Given the description of an element on the screen output the (x, y) to click on. 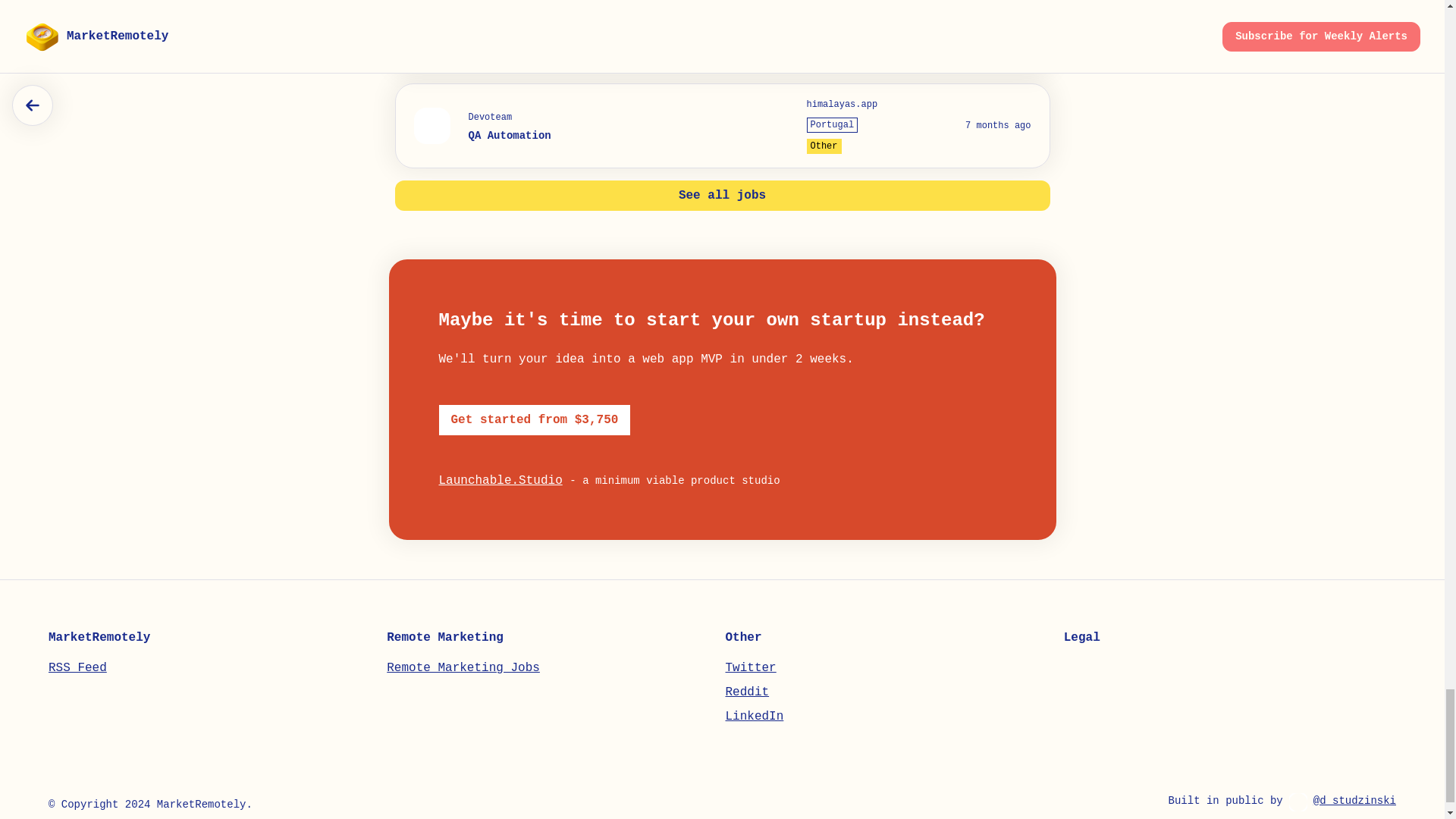
LinkedIn (754, 716)
See all jobs (721, 195)
RSS Feed (77, 667)
Reddit (746, 692)
Remote Marketing Jobs (463, 667)
Twitter (750, 667)
Launchable.Studio (500, 480)
